Given the description of an element on the screen output the (x, y) to click on. 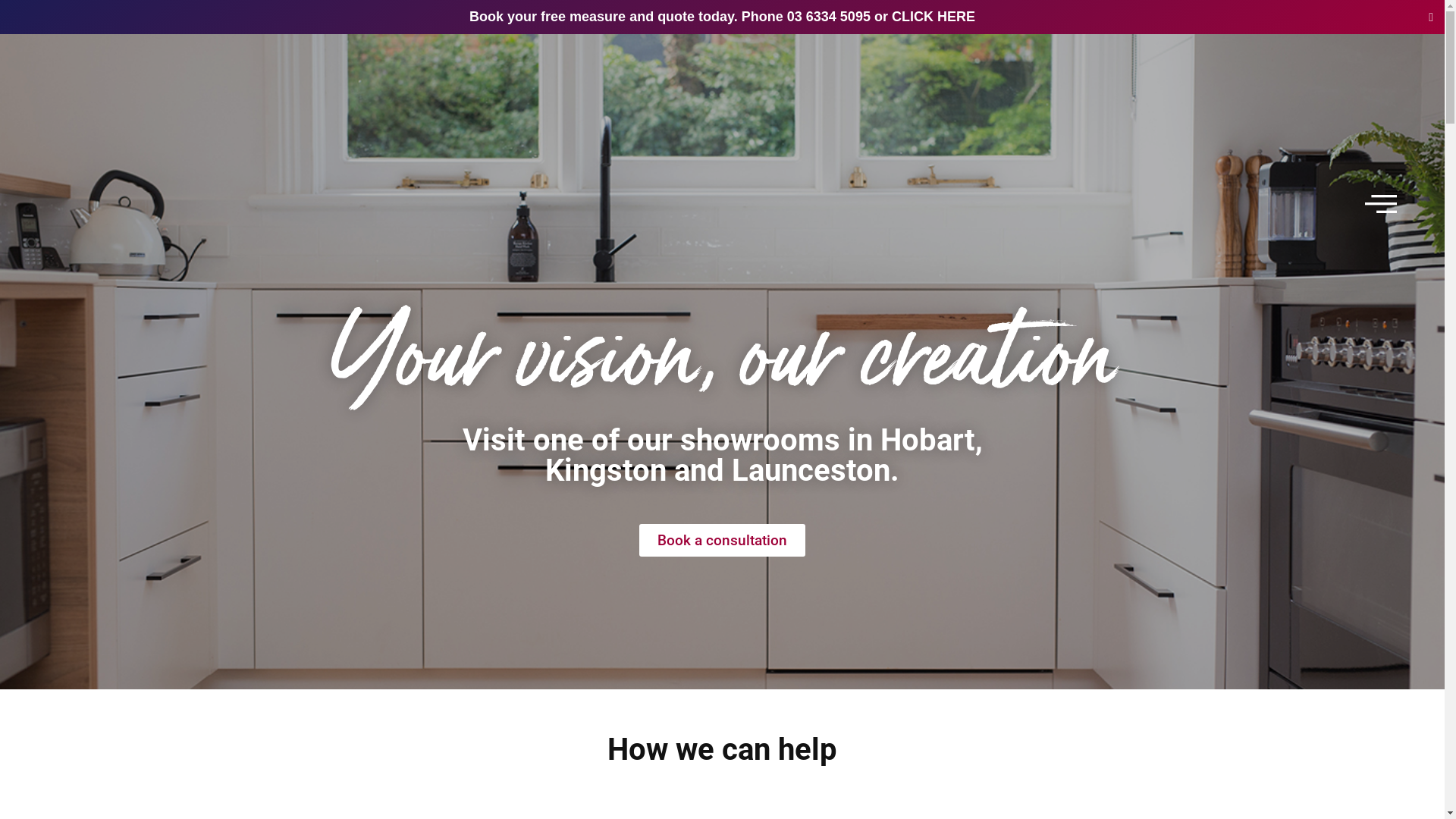
CLICK HERE Element type: text (933, 16)
Skip to content Element type: text (11, 65)
Book a consultation Element type: text (722, 540)
03 6334 5095 Element type: text (828, 16)
